Given the description of an element on the screen output the (x, y) to click on. 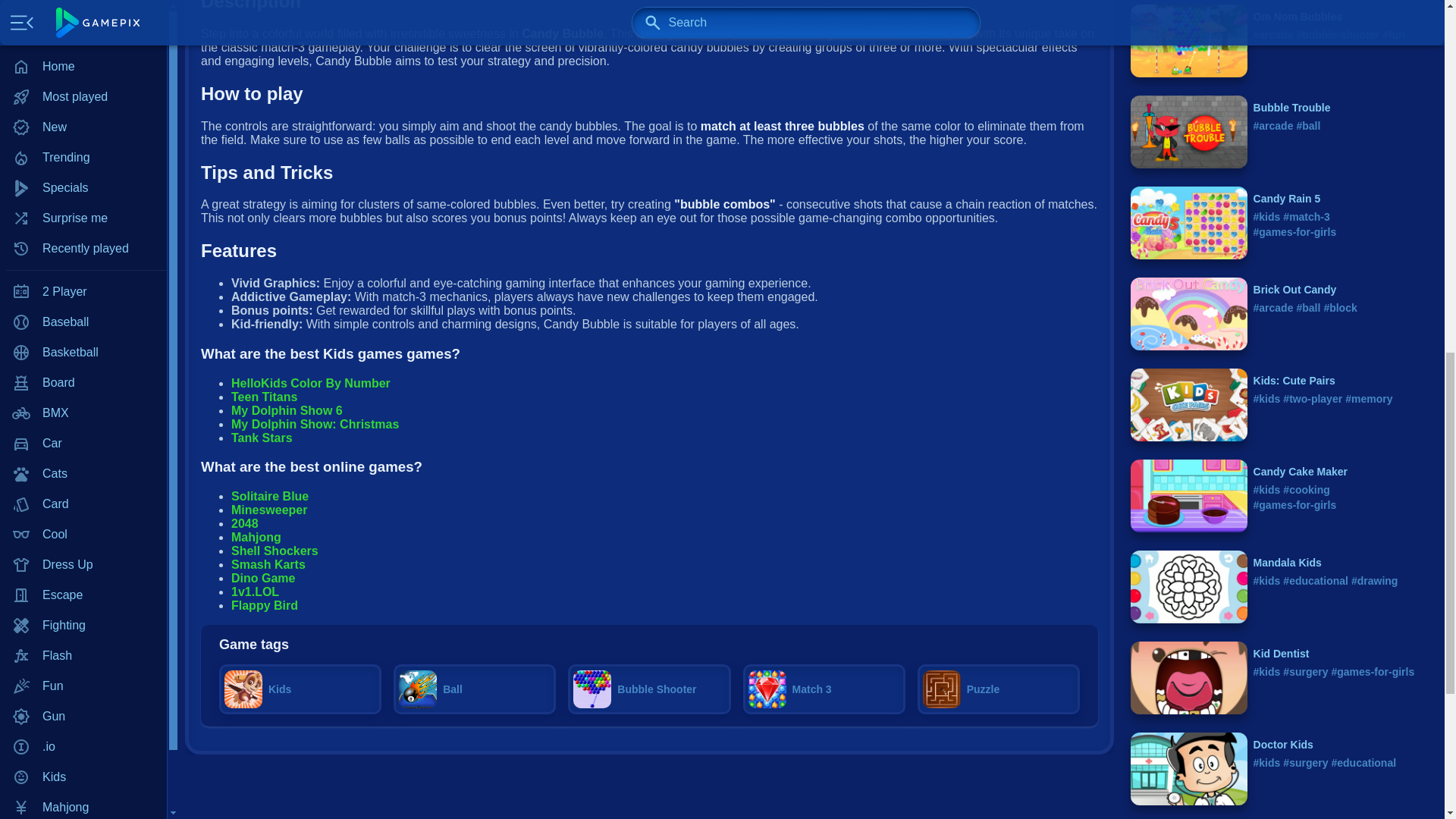
Zombie (83, 382)
Soccer (83, 291)
Racing (83, 140)
RPG (83, 170)
Math (83, 49)
Mario (83, 19)
Poker (83, 79)
Snake (83, 261)
Puzzle (83, 110)
Shooter (83, 200)
